Given the description of an element on the screen output the (x, y) to click on. 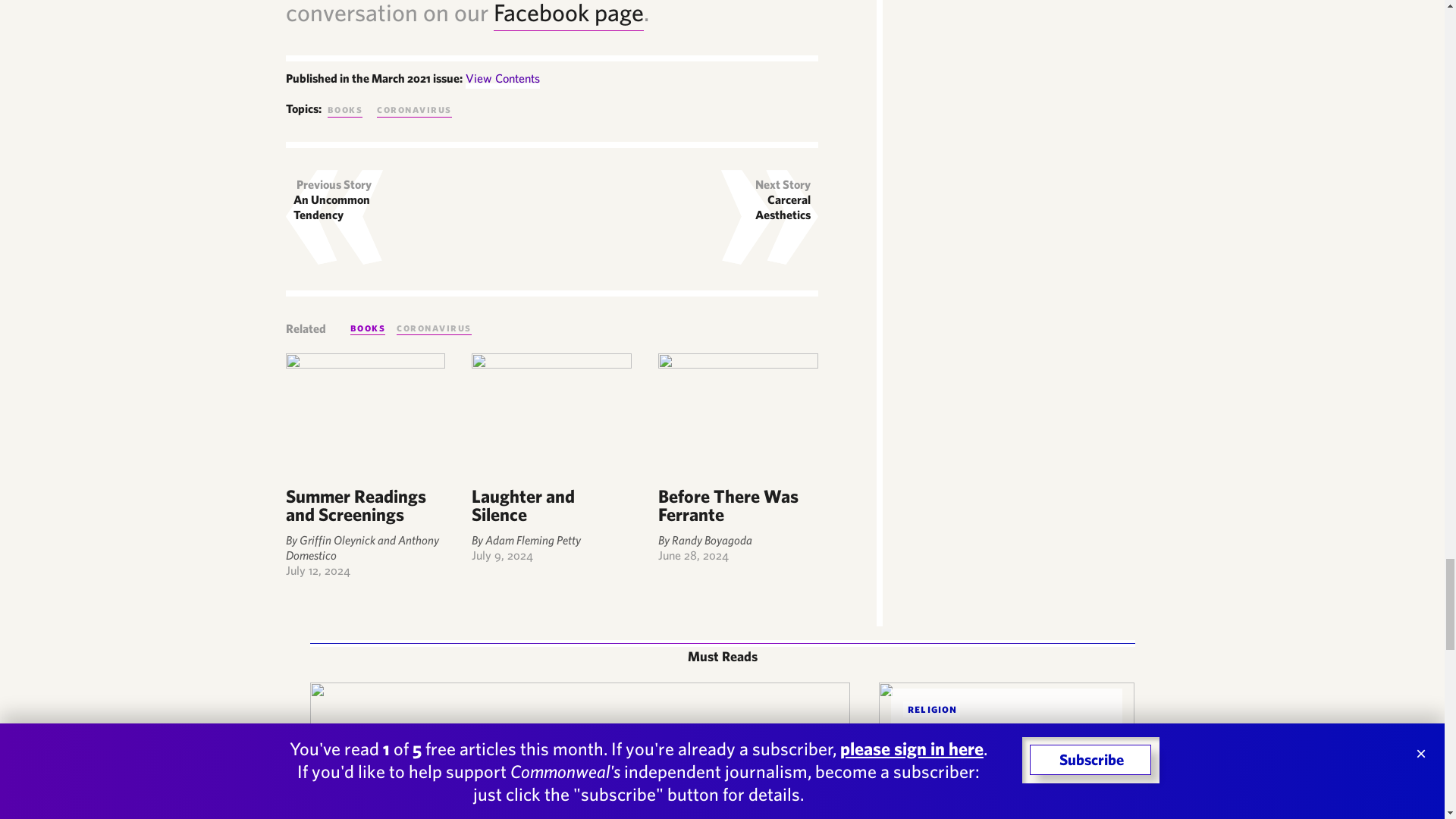
Friday, June 28, 2024 - 16:38 (693, 554)
Tuesday, July 9, 2024 - 14:20 (501, 554)
Friday, July 12, 2024 - 11:07 (317, 570)
